Given the description of an element on the screen output the (x, y) to click on. 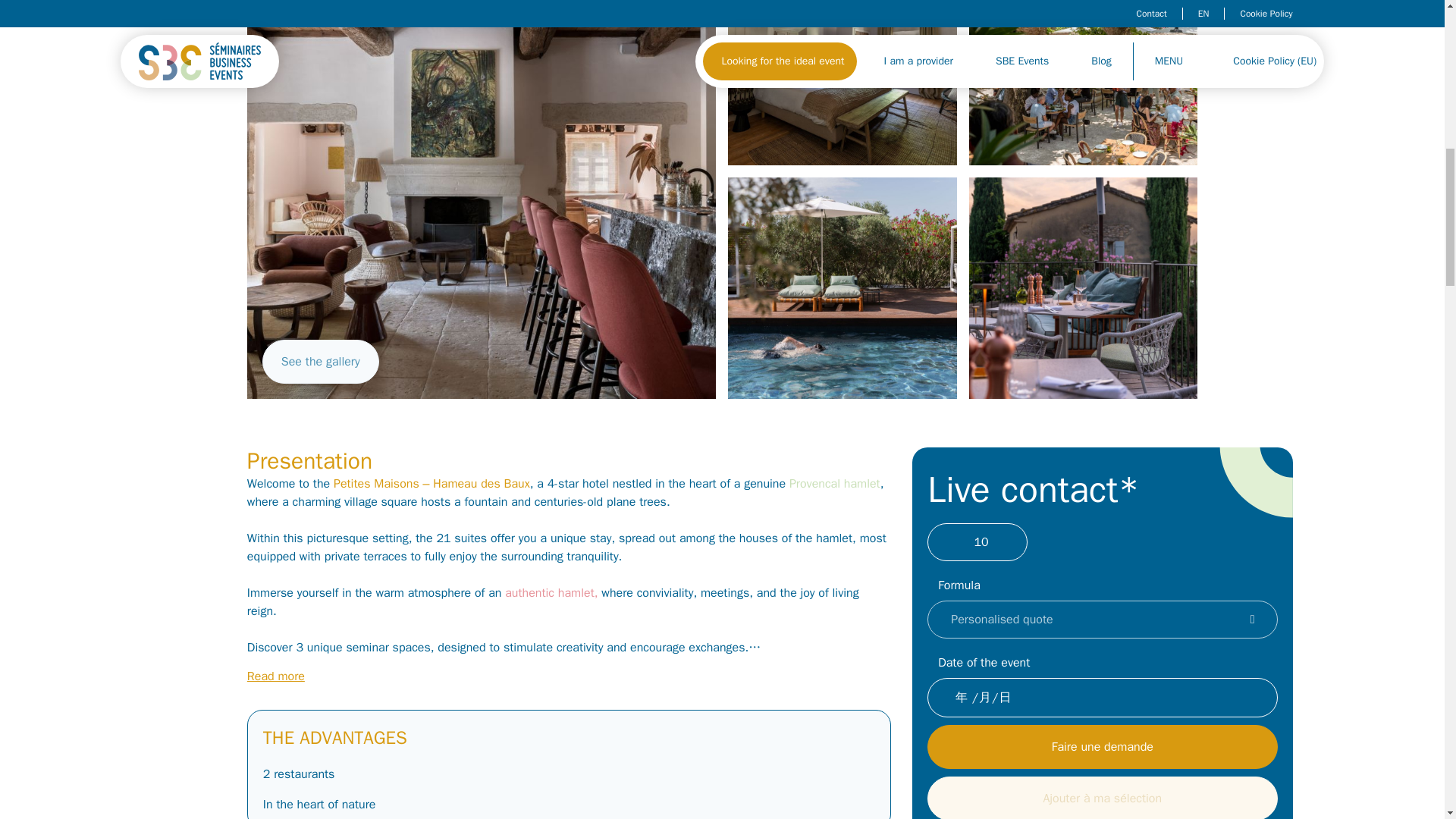
10 (981, 542)
See the gallery (320, 361)
Read more (275, 676)
